Given the description of an element on the screen output the (x, y) to click on. 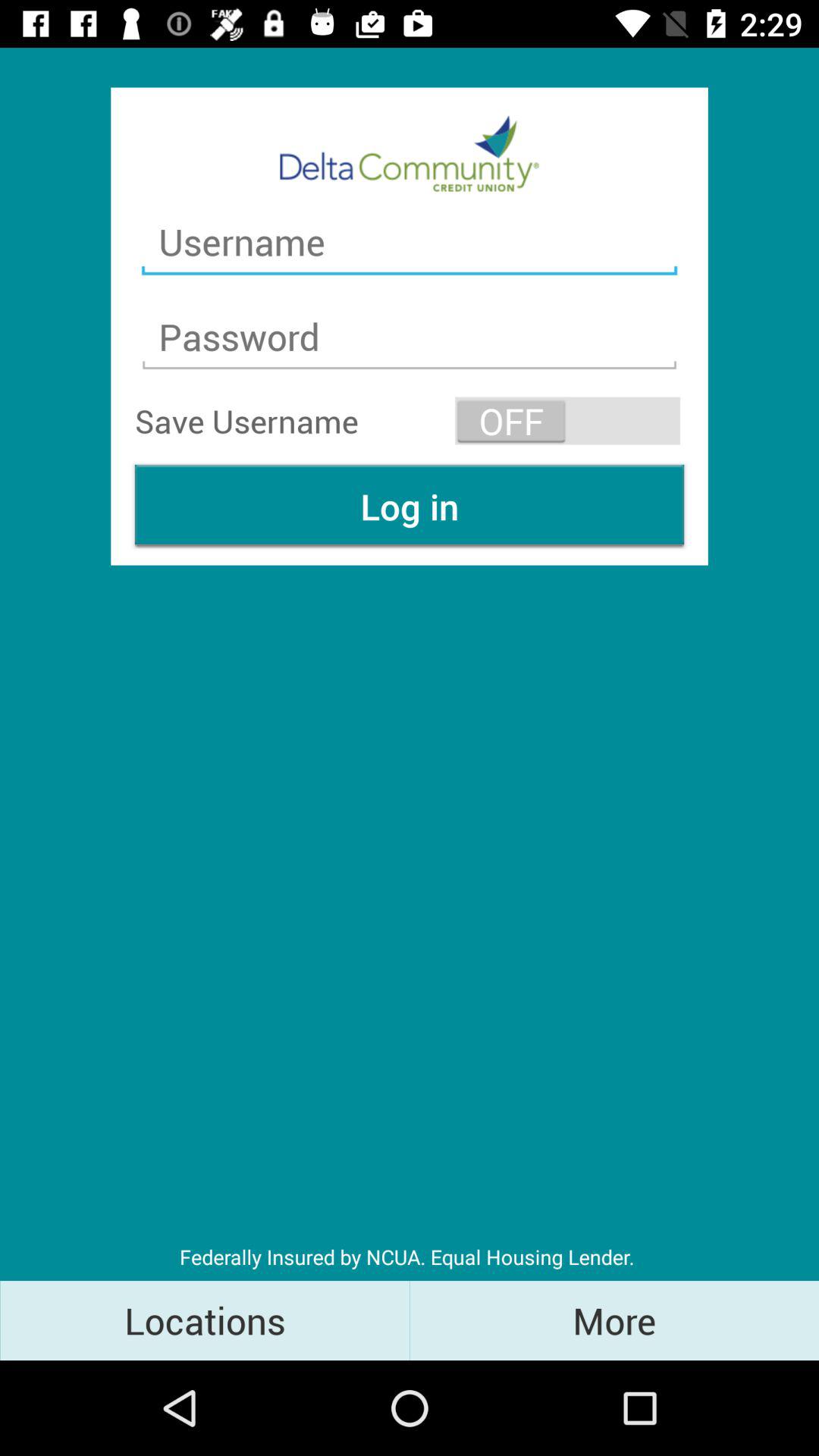
scroll until the more item (614, 1320)
